Given the description of an element on the screen output the (x, y) to click on. 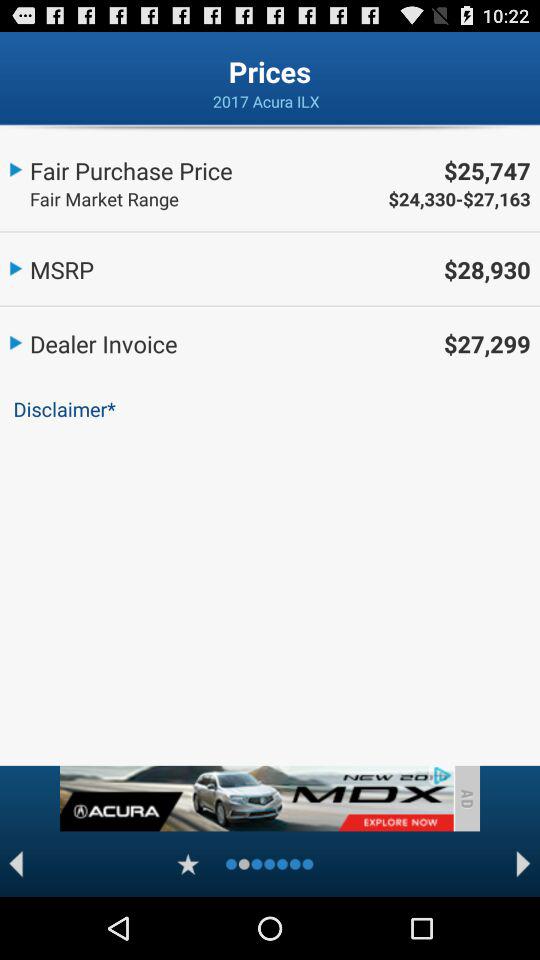
go to rating (188, 864)
